Given the description of an element on the screen output the (x, y) to click on. 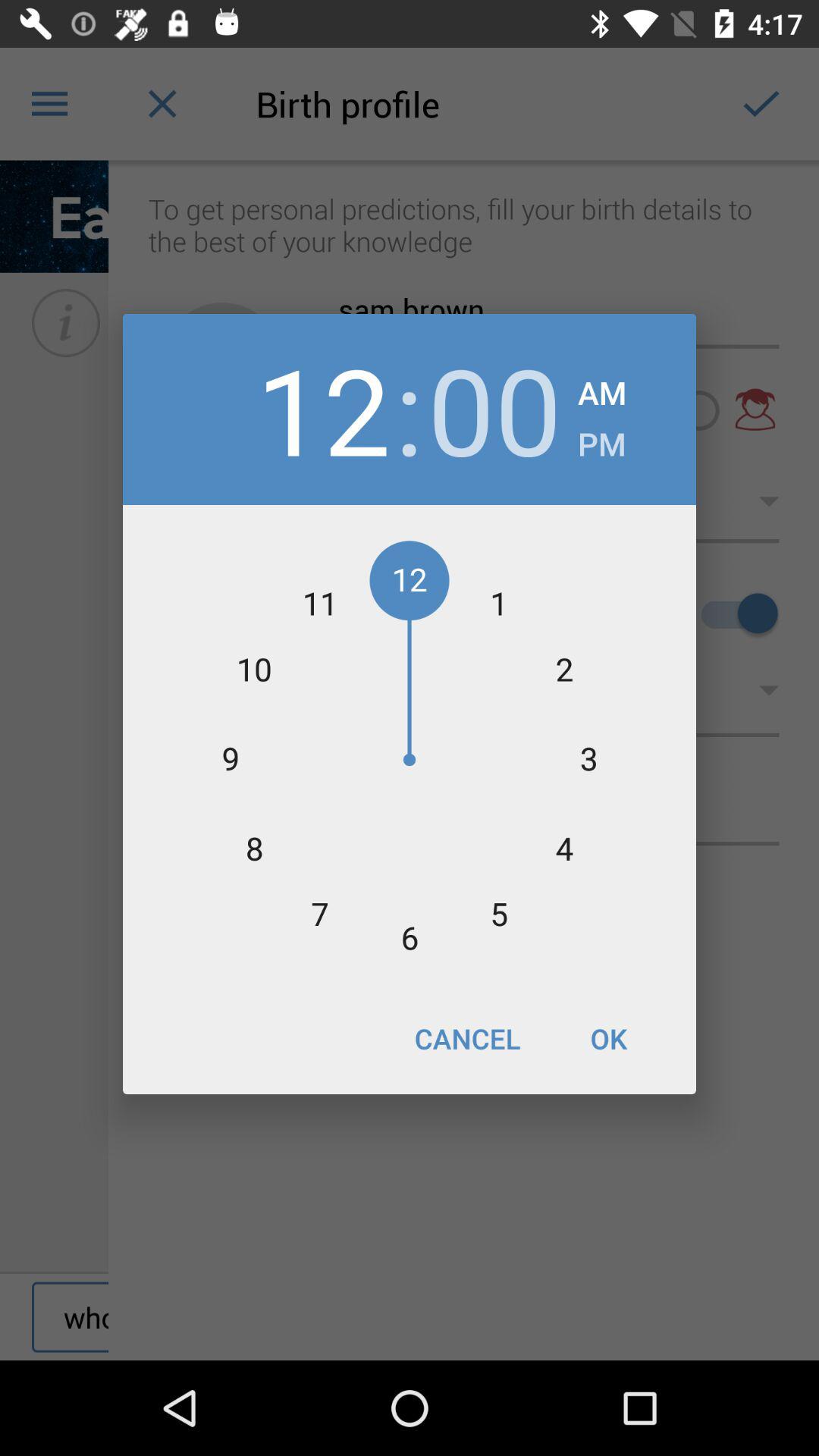
open 12 (323, 408)
